Given the description of an element on the screen output the (x, y) to click on. 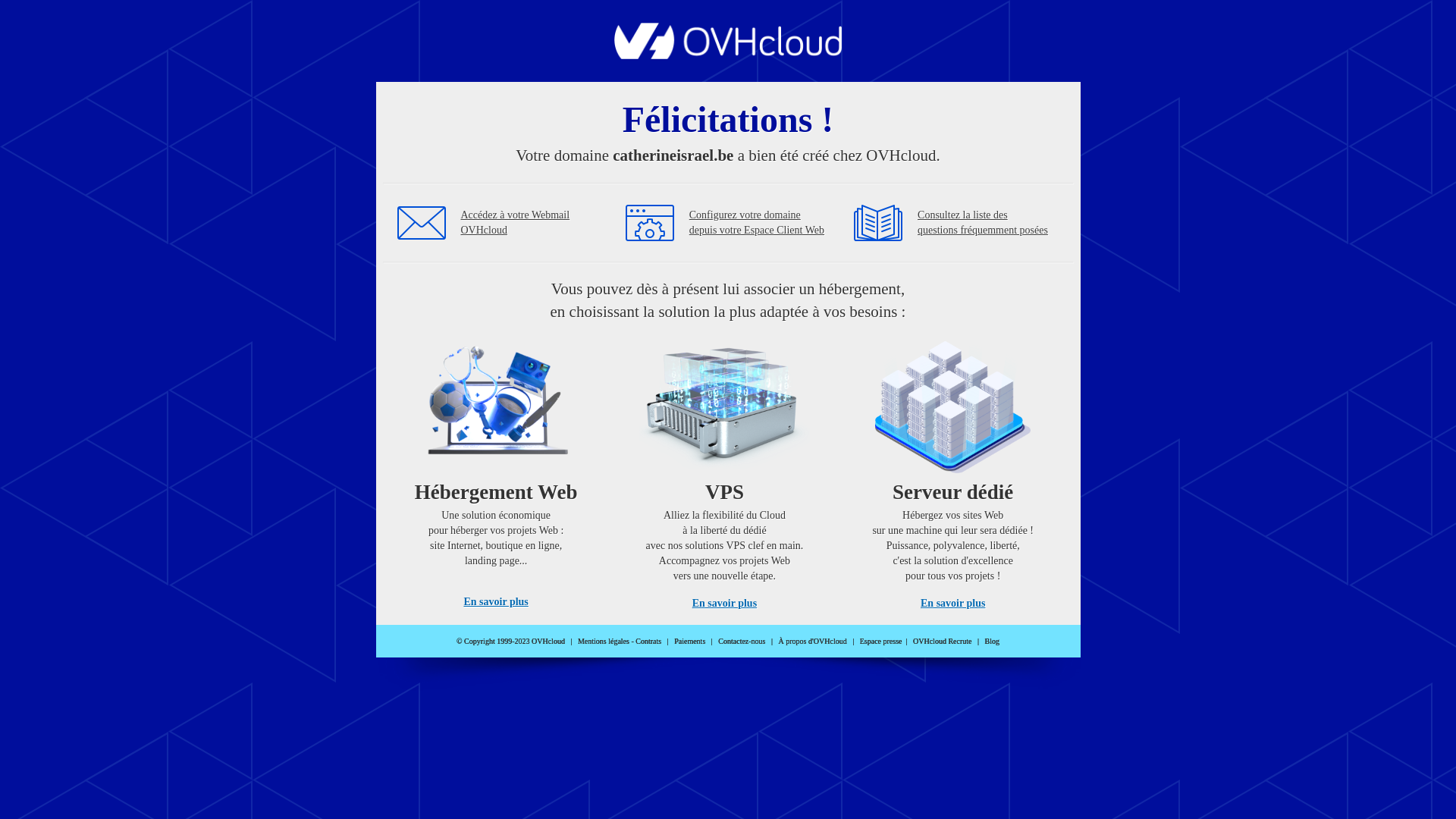
OVHcloud Recrute Element type: text (942, 641)
Contactez-nous Element type: text (741, 641)
Paiements Element type: text (689, 641)
OVHcloud Element type: hover (727, 54)
En savoir plus Element type: text (495, 601)
Blog Element type: text (992, 641)
En savoir plus Element type: text (952, 602)
Espace presse Element type: text (880, 641)
En savoir plus Element type: text (724, 602)
VPS Element type: hover (724, 469)
Configurez votre domaine
depuis votre Espace Client Web Element type: text (756, 222)
